Given the description of an element on the screen output the (x, y) to click on. 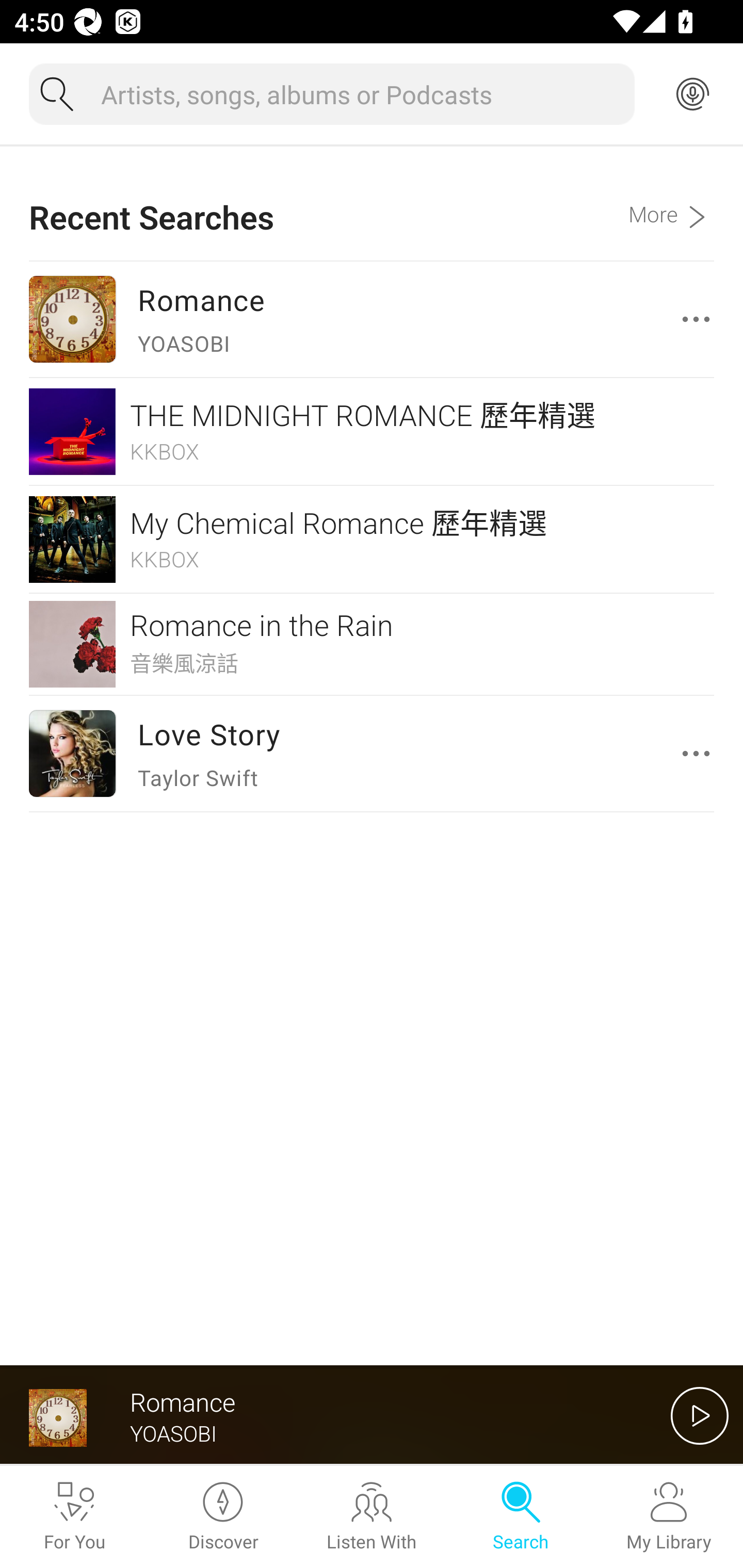
Music recognition (692, 93)
Artists, songs, albums or Podcasts (360, 93)
More Recent Searches More (671, 202)
Romance YOASOBI 更多操作選項 (371, 318)
更多操作選項 (699, 318)
THE MIDNIGHT ROMANCE 歷年精選 KKBOX (371, 430)
My Chemical Romance 歷年精選 KKBOX (371, 539)
Romance in the Rain 音樂風涼話 (371, 644)
Love Story Taylor Swift 更多操作選項 (371, 753)
更多操作選項 (699, 753)
開始播放 (699, 1415)
For You (74, 1517)
Discover (222, 1517)
Listen With (371, 1517)
Search (519, 1517)
My Library (668, 1517)
